Given the description of an element on the screen output the (x, y) to click on. 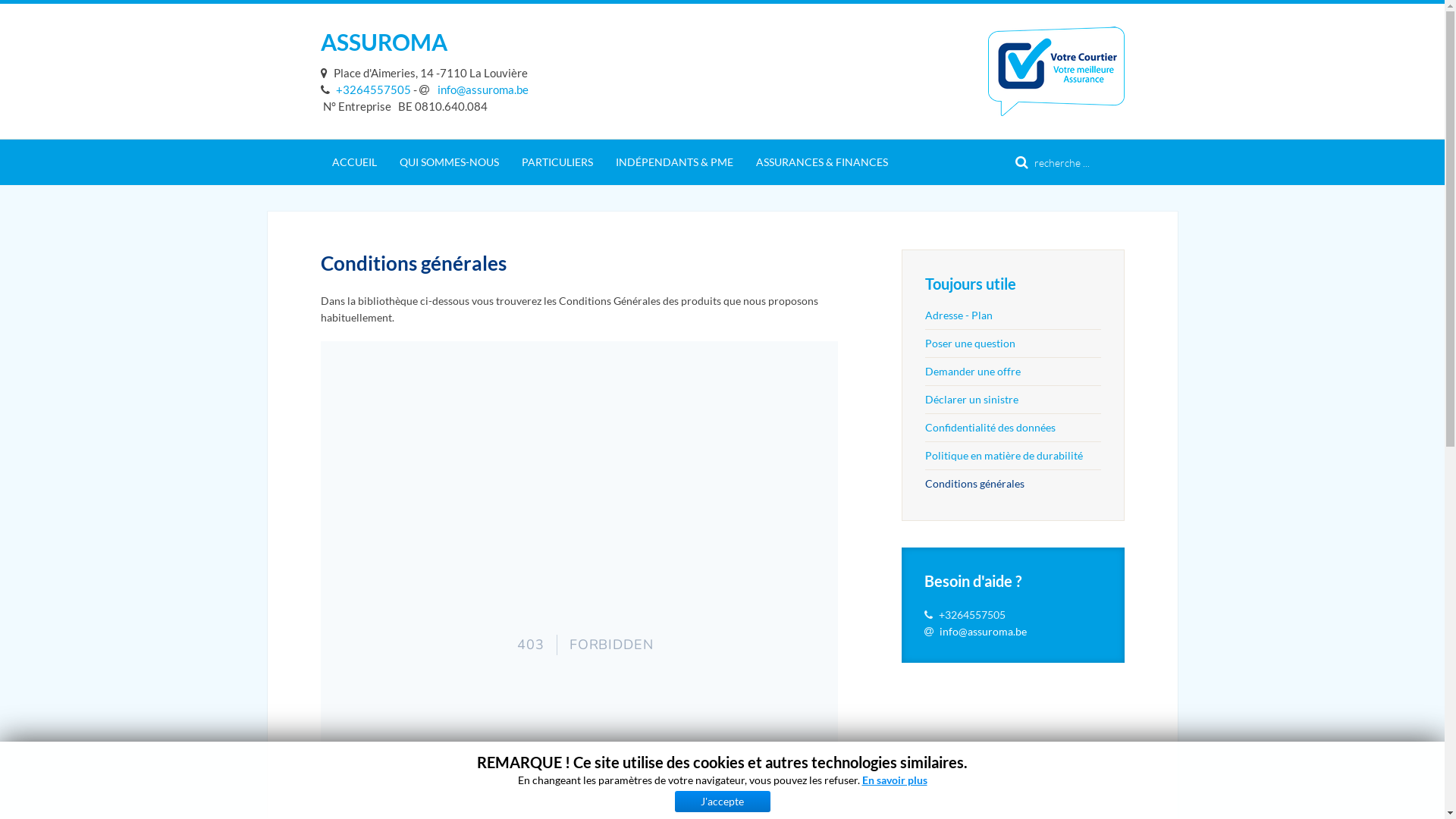
info@assuroma.be Element type: text (982, 630)
  +3264557505 Element type: text (365, 89)
   info@assuroma.be Element type: text (472, 89)
Adresse - Plan Element type: text (1013, 315)
   Element type: text (326, 72)
PARTICULIERS Element type: text (556, 162)
ASSUROMA Element type: text (383, 41)
Demander une offre Element type: text (1013, 371)
ASSURANCES & FINANCES Element type: text (821, 162)
Poser une question Element type: text (1013, 343)
QUI SOMMES-NOUS Element type: text (449, 162)
ACCUEIL Element type: text (353, 162)
